Given the description of an element on the screen output the (x, y) to click on. 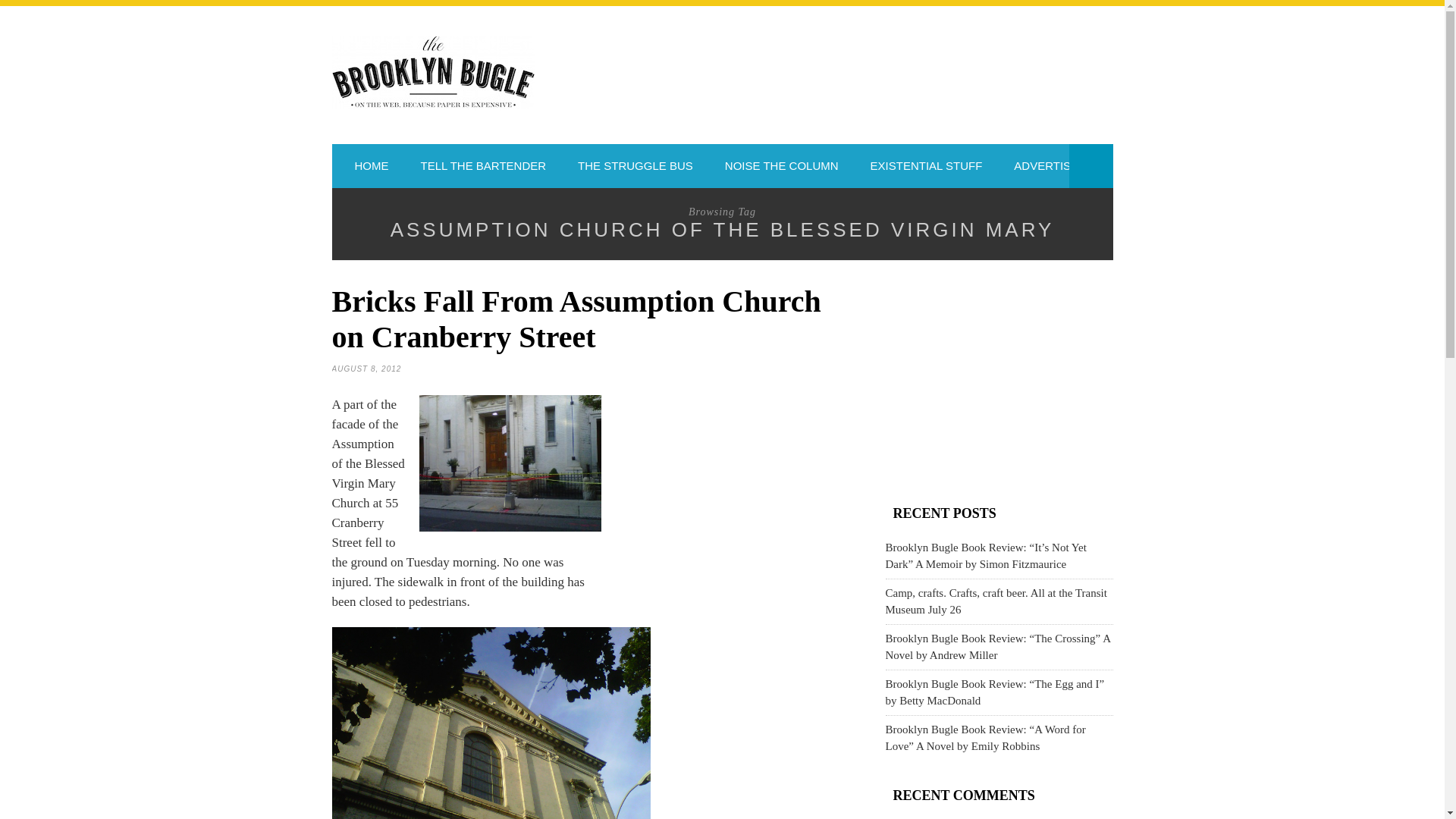
EXISTENTIAL STUFF (926, 166)
TELL THE BARTENDER (483, 166)
3rd party ad content (733, 497)
THE STRUGGLE BUS (635, 166)
ADVERTISE (1045, 166)
NOISE THE COLUMN (781, 166)
Bricks Fall From Assumption Church on Cranberry Street (576, 318)
